Given the description of an element on the screen output the (x, y) to click on. 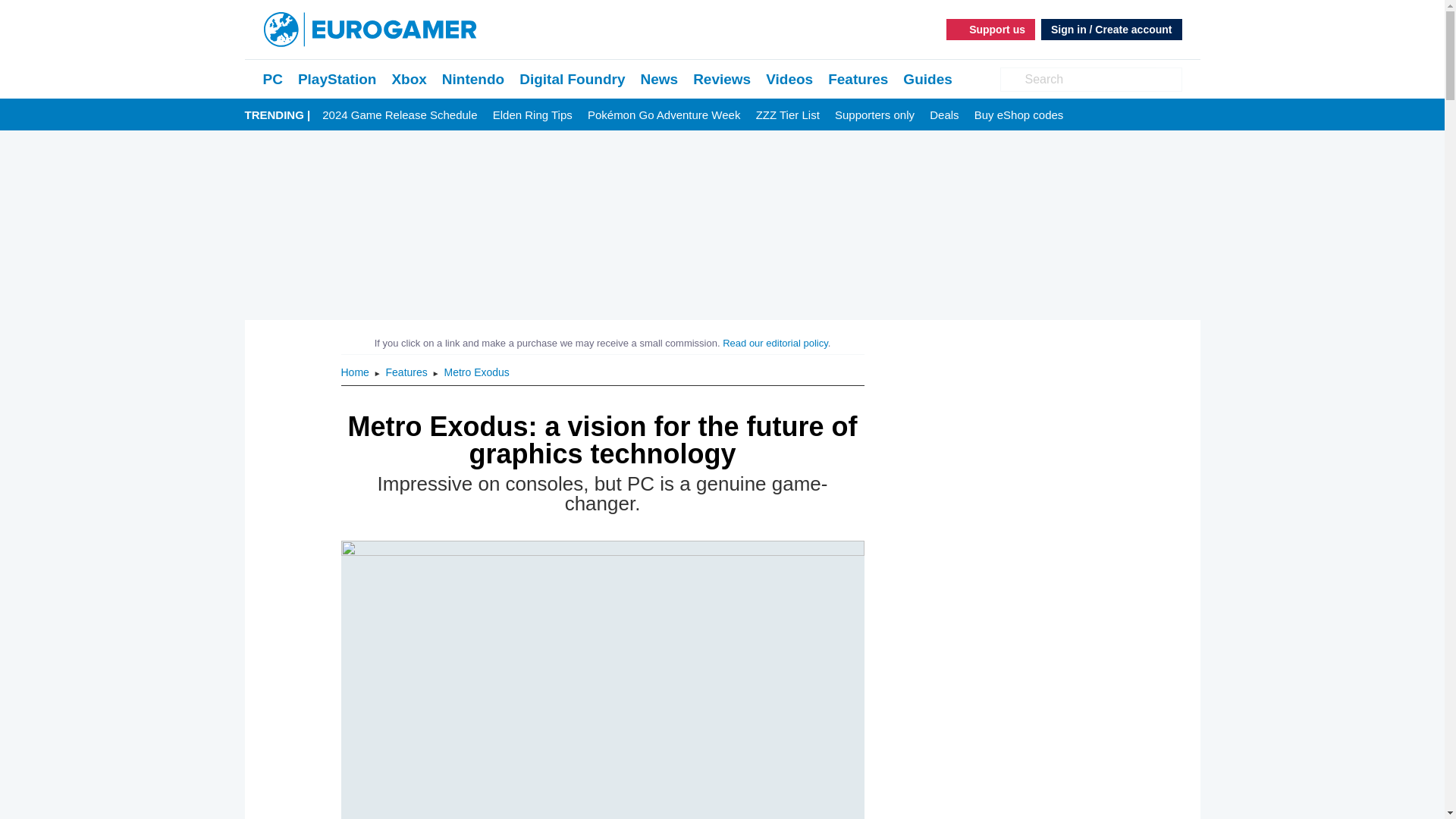
Metro Exodus (476, 372)
ZZZ Tier List (787, 114)
Features (407, 372)
Nintendo (472, 78)
Digital Foundry (571, 78)
Guides (927, 78)
Supporters only (874, 114)
2024 Game Release Schedule (399, 114)
Features (858, 78)
Buy eShop codes (1019, 114)
